Given the description of an element on the screen output the (x, y) to click on. 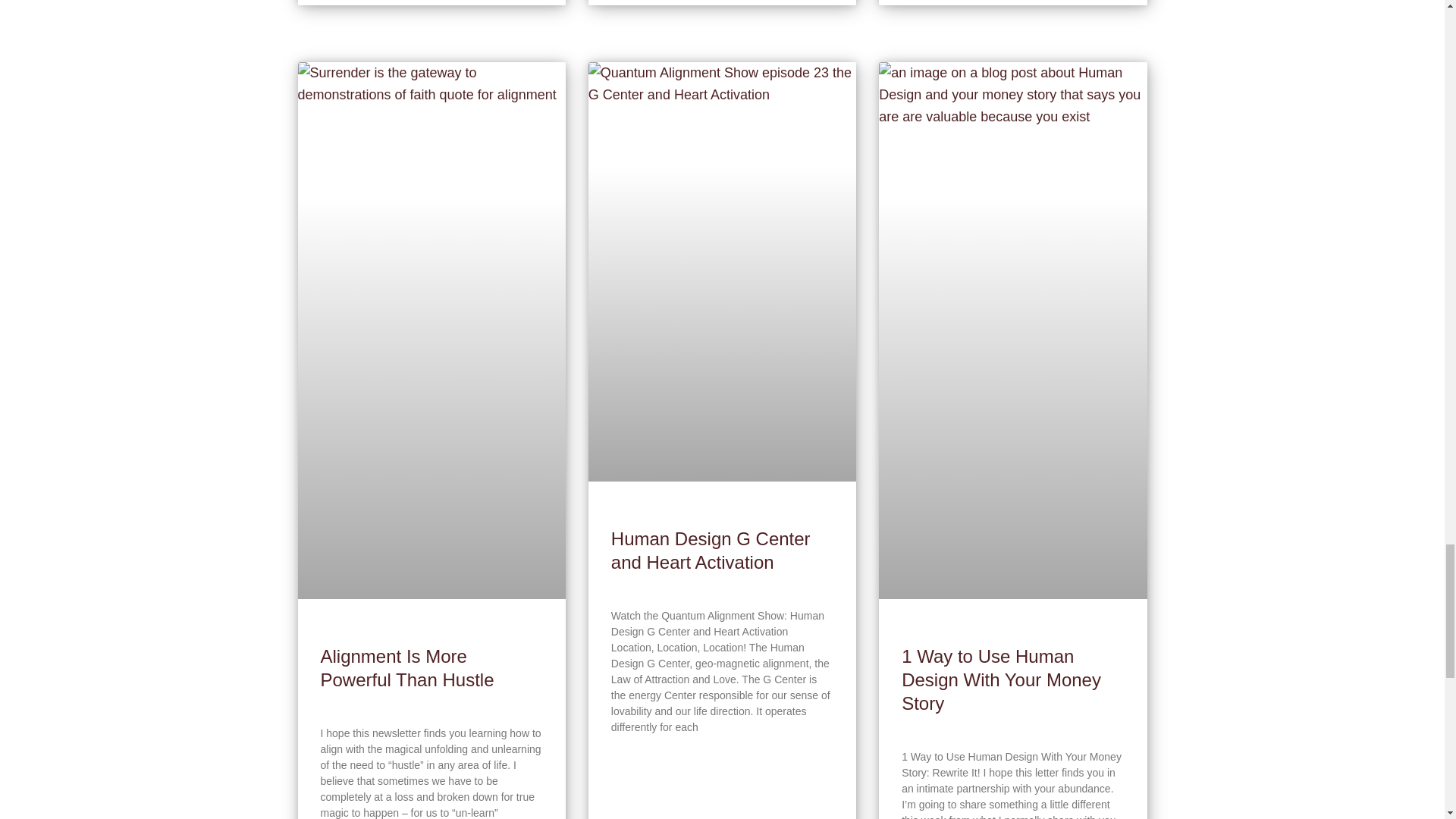
Human Design G Center and Heart Activation (710, 550)
1 Way to Use Human Design With Your Money Story (1000, 679)
Alignment Is More Powerful Than Hustle (406, 668)
